Given the description of an element on the screen output the (x, y) to click on. 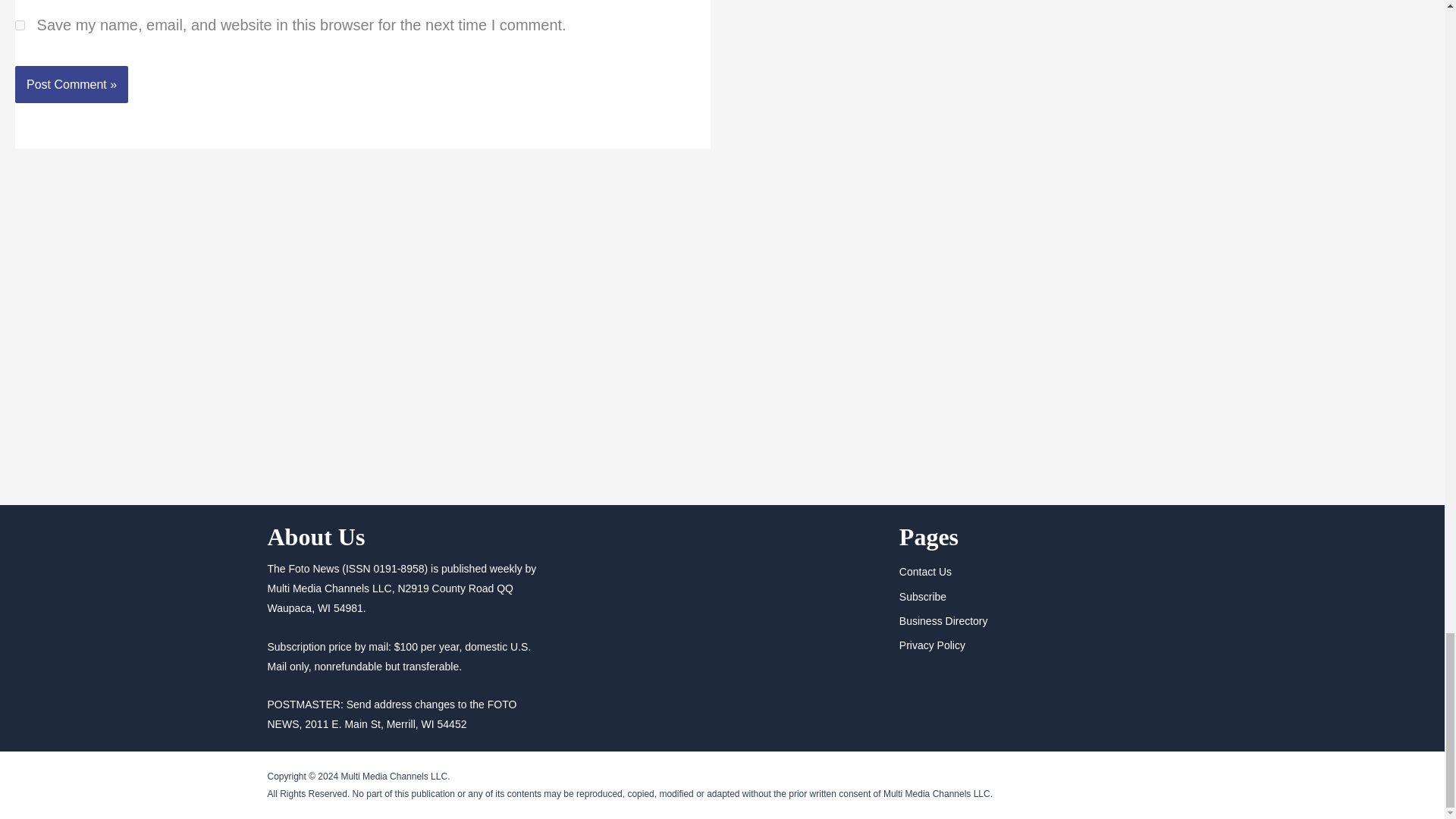
yes (19, 25)
